Given the description of an element on the screen output the (x, y) to click on. 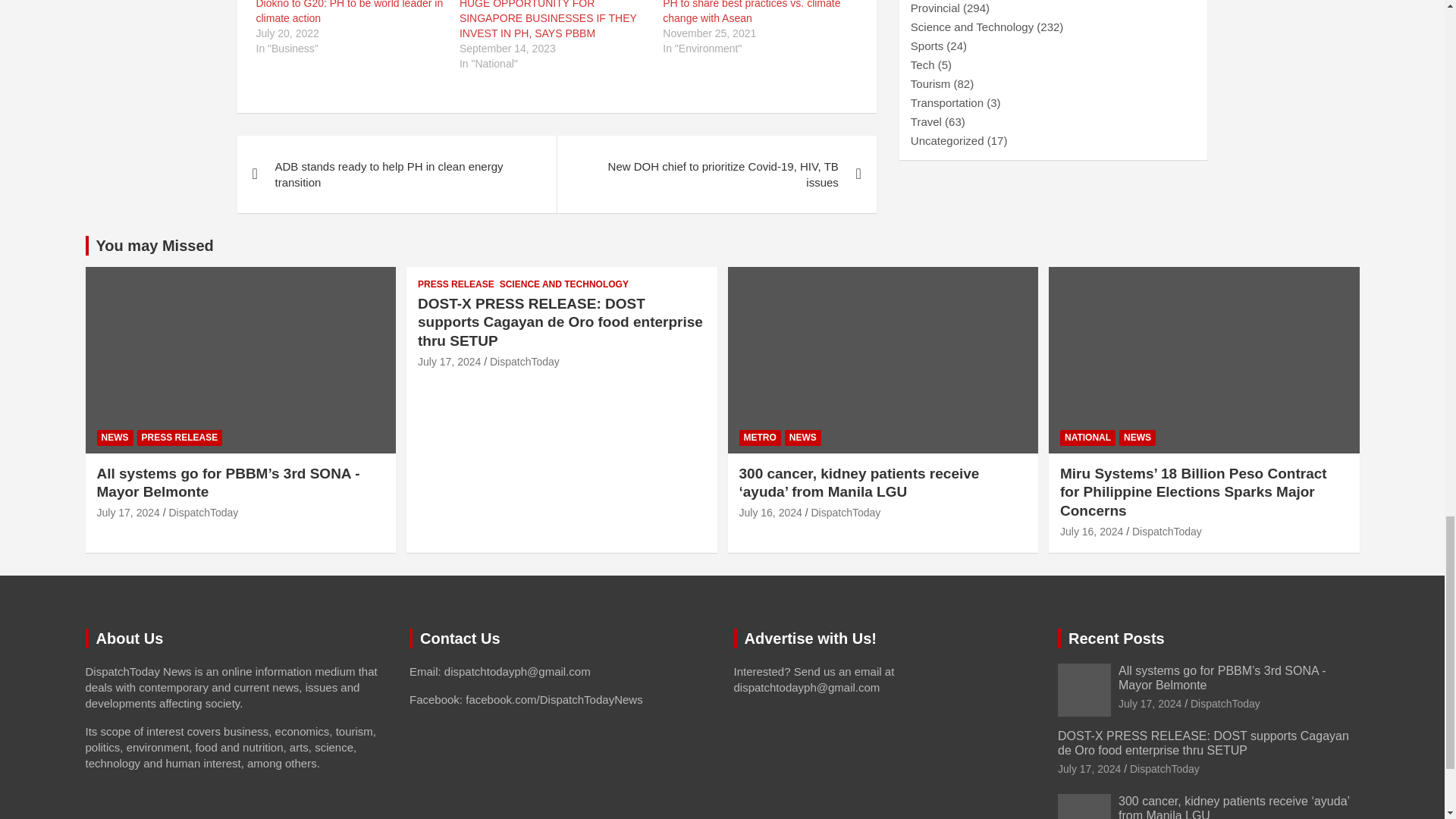
PH to share best practices vs. climate change with Asean (751, 12)
Diokno to G20: PH to be world leader in climate action (350, 12)
